Given the description of an element on the screen output the (x, y) to click on. 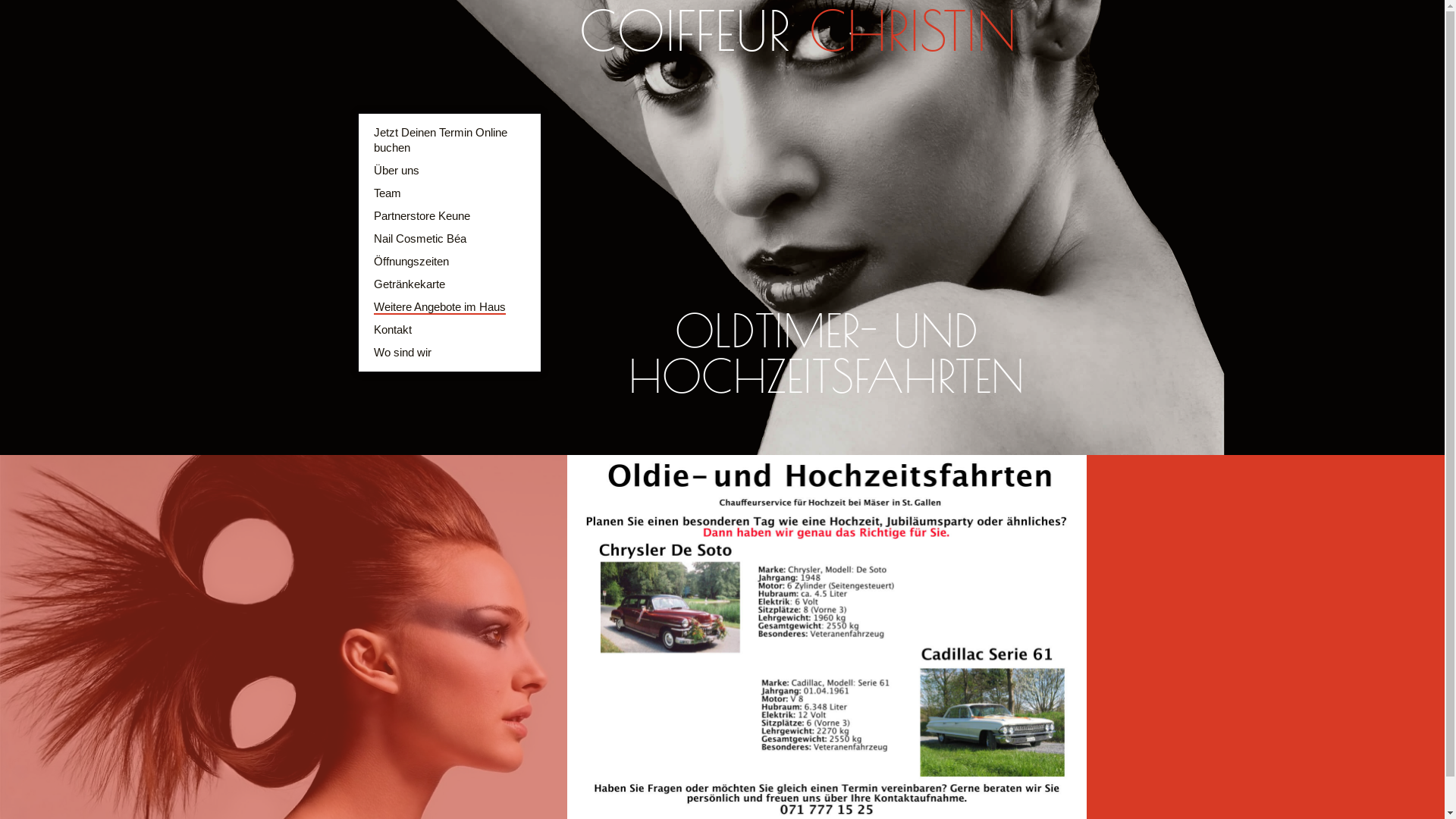
Weitere Angebote im Haus Element type: text (439, 307)
Jetzt Deinen Termin Online buchen Element type: text (439, 139)
Kontakt Element type: text (392, 329)
Team Element type: text (386, 192)
Partnerstore Keune Element type: text (421, 215)
Wo sind wir Element type: text (401, 351)
